Given the description of an element on the screen output the (x, y) to click on. 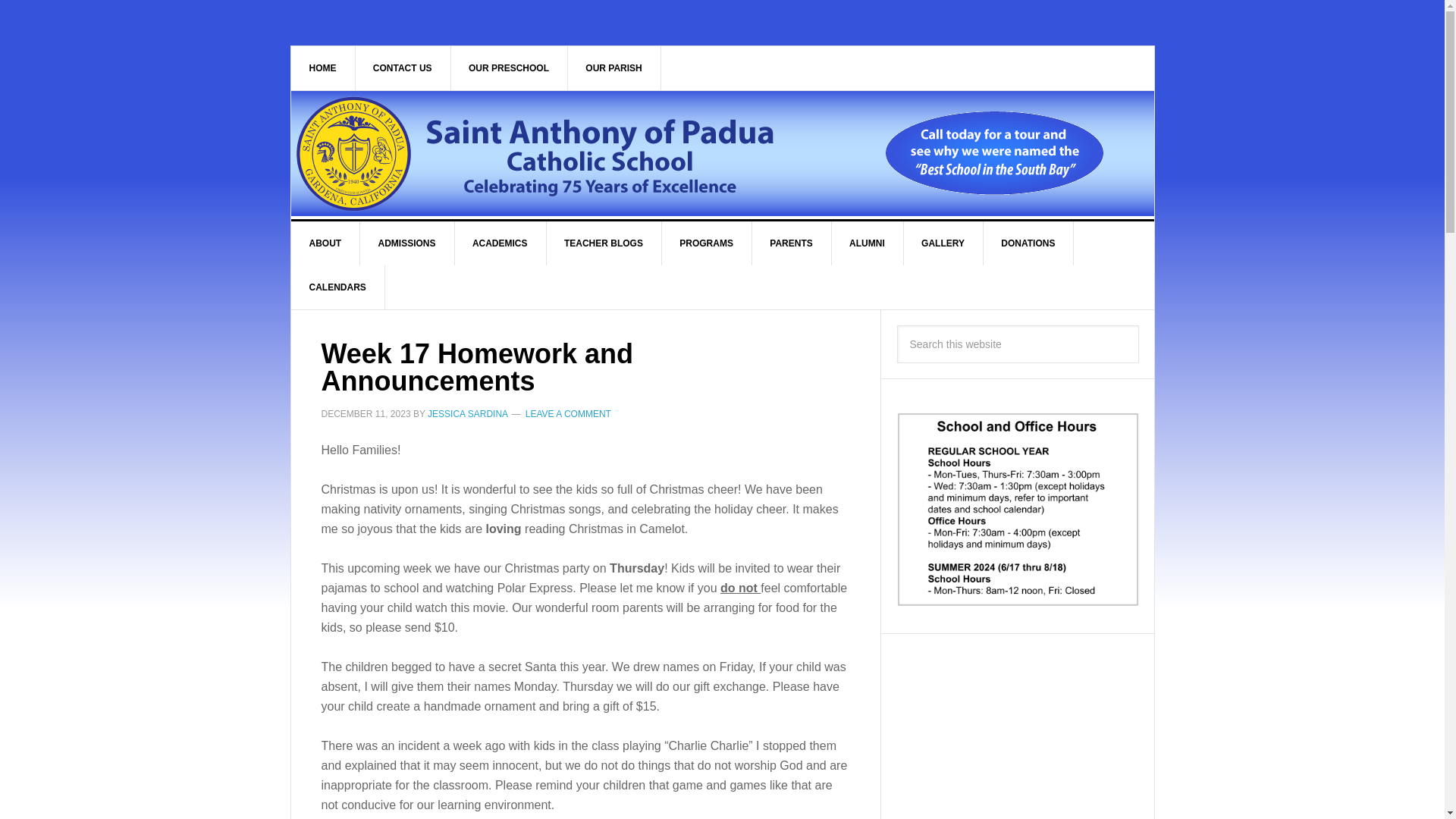
ACADEMICS (500, 243)
YouTube video player (1017, 734)
TEACHER BLOGS (604, 243)
SAINT ANTHONY OF PADUA SCHOOL, GARDENA, CA (556, 153)
OUR PARISH (614, 67)
ADMISSIONS (406, 243)
ABOUT (326, 243)
CONTACT US (403, 67)
OUR PRESCHOOL (508, 67)
HOME (323, 67)
